Given the description of an element on the screen output the (x, y) to click on. 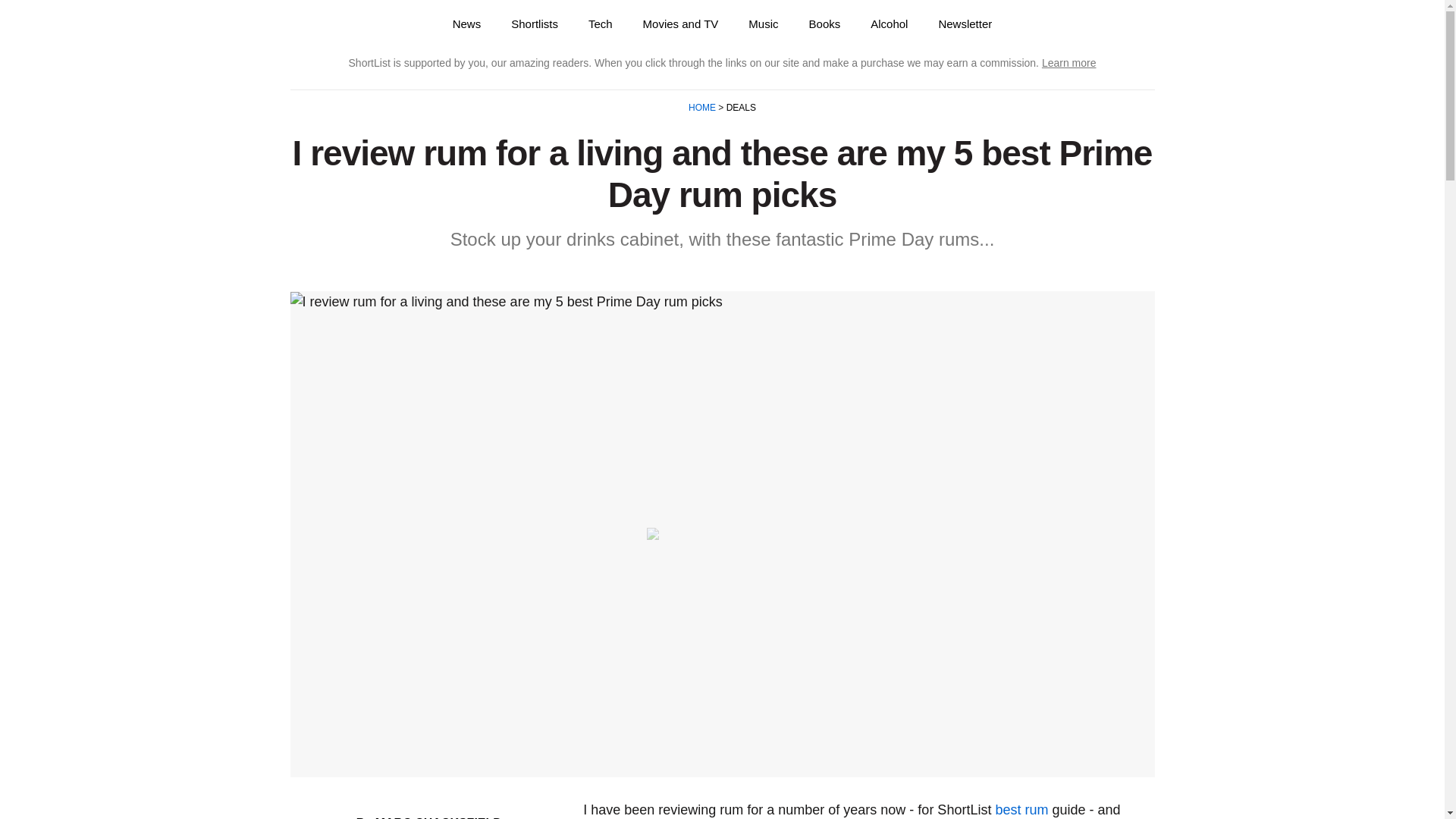
Shortlists (534, 23)
News (467, 23)
Books (824, 23)
Alcohol (889, 23)
HOME (702, 107)
best rum (1021, 809)
By MARC CHACKSFIELD (429, 817)
Movies and TV (680, 23)
Newsletter (965, 23)
Shortlist (346, 24)
